Given the description of an element on the screen output the (x, y) to click on. 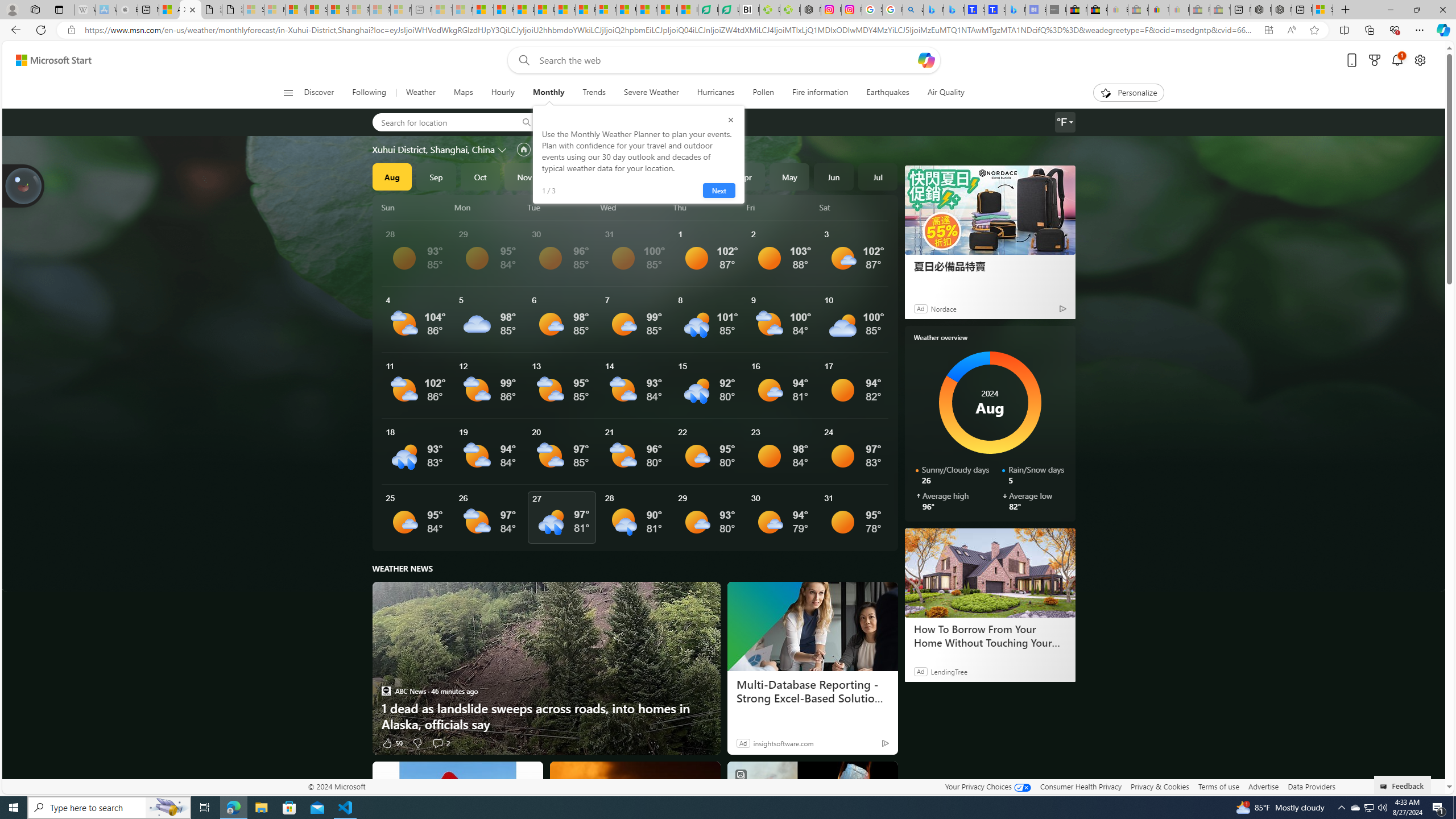
Apr (745, 176)
Sep (435, 176)
ABC News (385, 690)
Privacy & Cookies (1160, 786)
Severe Weather (651, 92)
Pollen (763, 92)
